Given the description of an element on the screen output the (x, y) to click on. 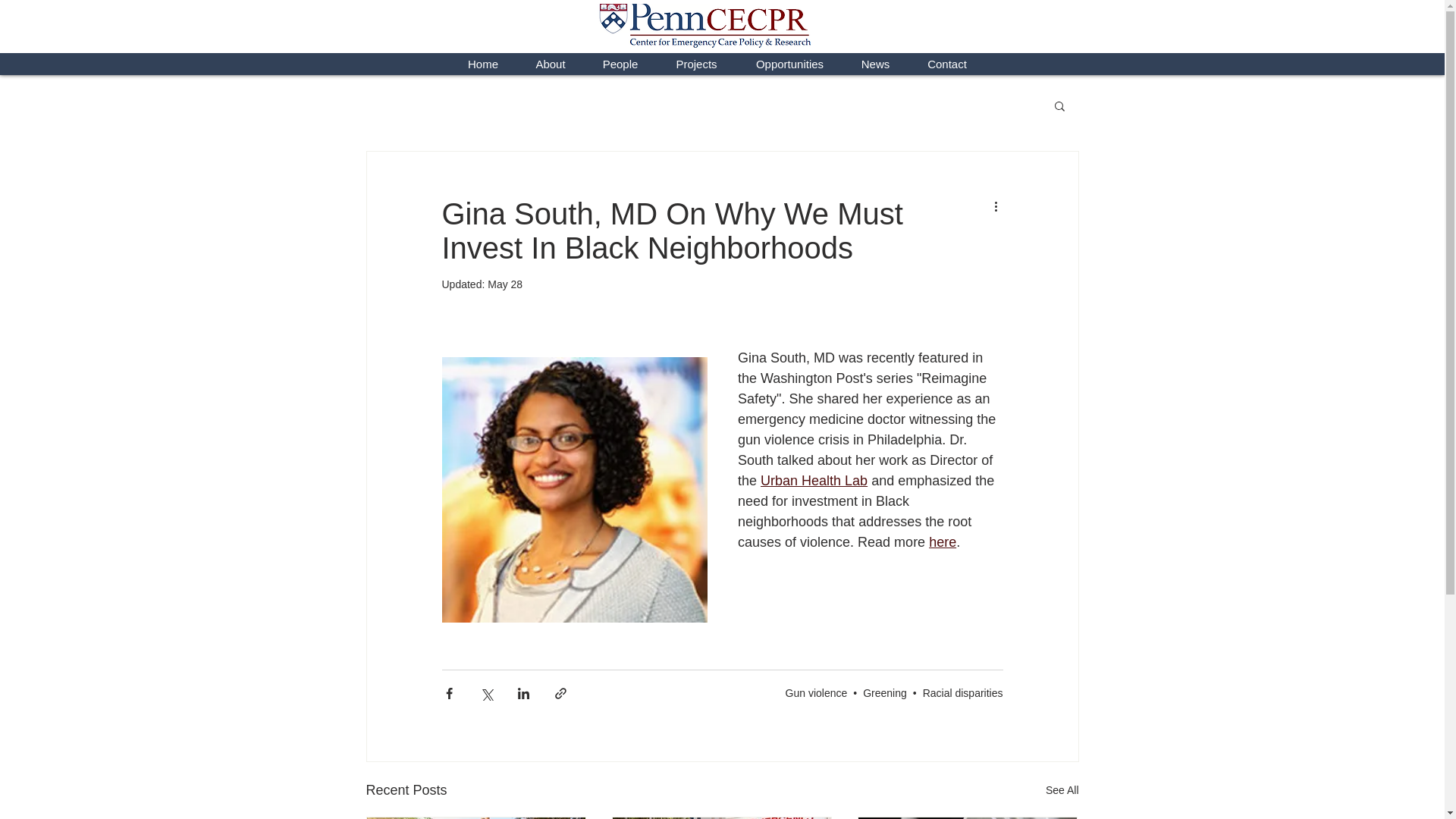
May 28 (504, 284)
Racial disparities (963, 693)
News (875, 63)
About (550, 63)
People (619, 63)
Greening (885, 693)
Contact (947, 63)
Urban Health Lab (813, 480)
See All (1061, 790)
here (942, 541)
Gun violence (816, 693)
Projects (696, 63)
Opportunities (789, 63)
Home (482, 63)
